Given the description of an element on the screen output the (x, y) to click on. 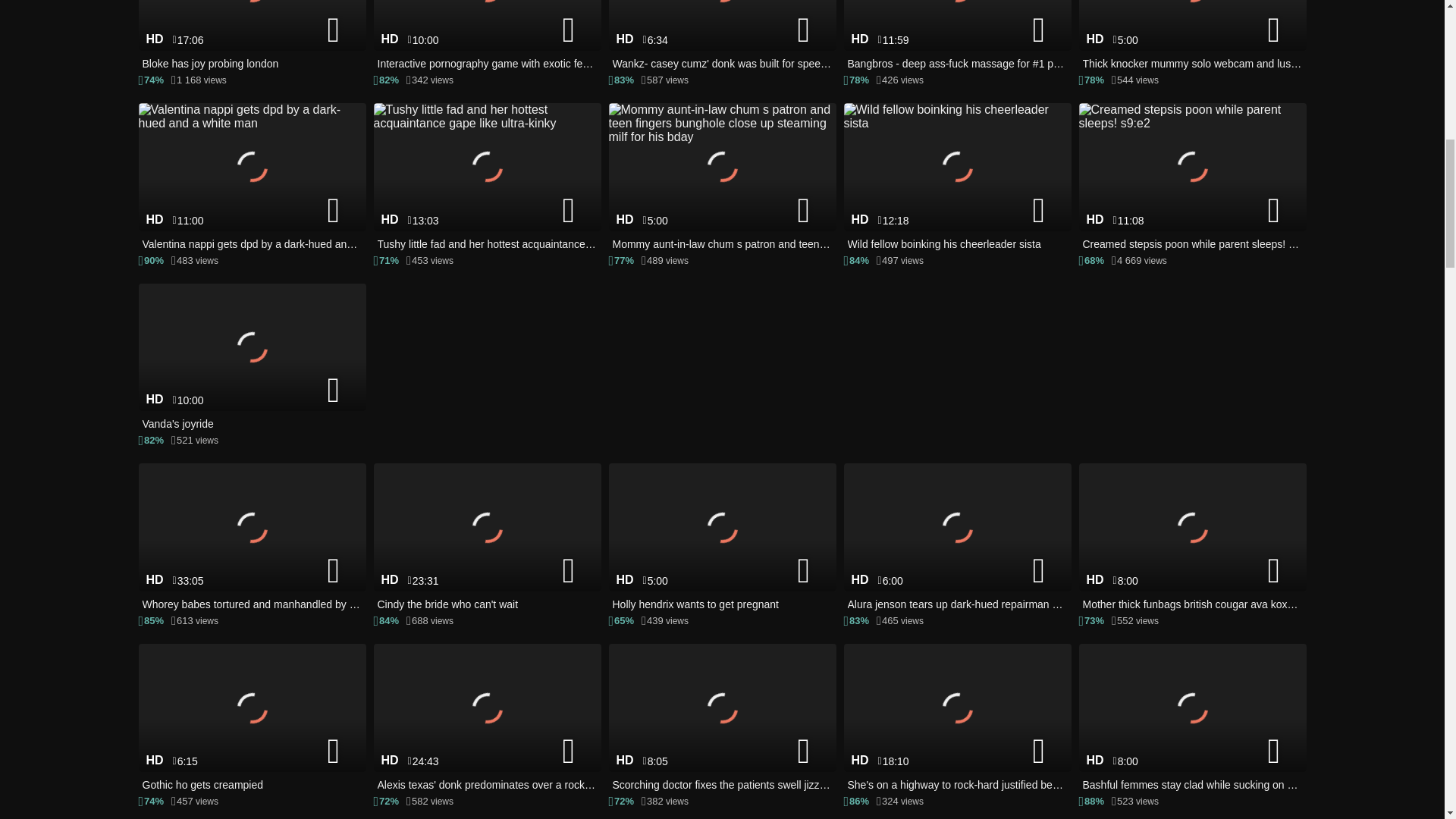
Creamed stepsis poon while parent sleeps! s9:e2 (1192, 178)
Bloke has joy probing london (251, 36)
Interactive pornography game with exotic femmes (485, 36)
Wild fellow boinking his cheerleader sista (956, 178)
Whorey babes tortured and manhandled by sloppy master (251, 538)
Wankz- casey cumz' donk was built for speed pummeling (721, 36)
Vanda's joyride (251, 358)
